Given the description of an element on the screen output the (x, y) to click on. 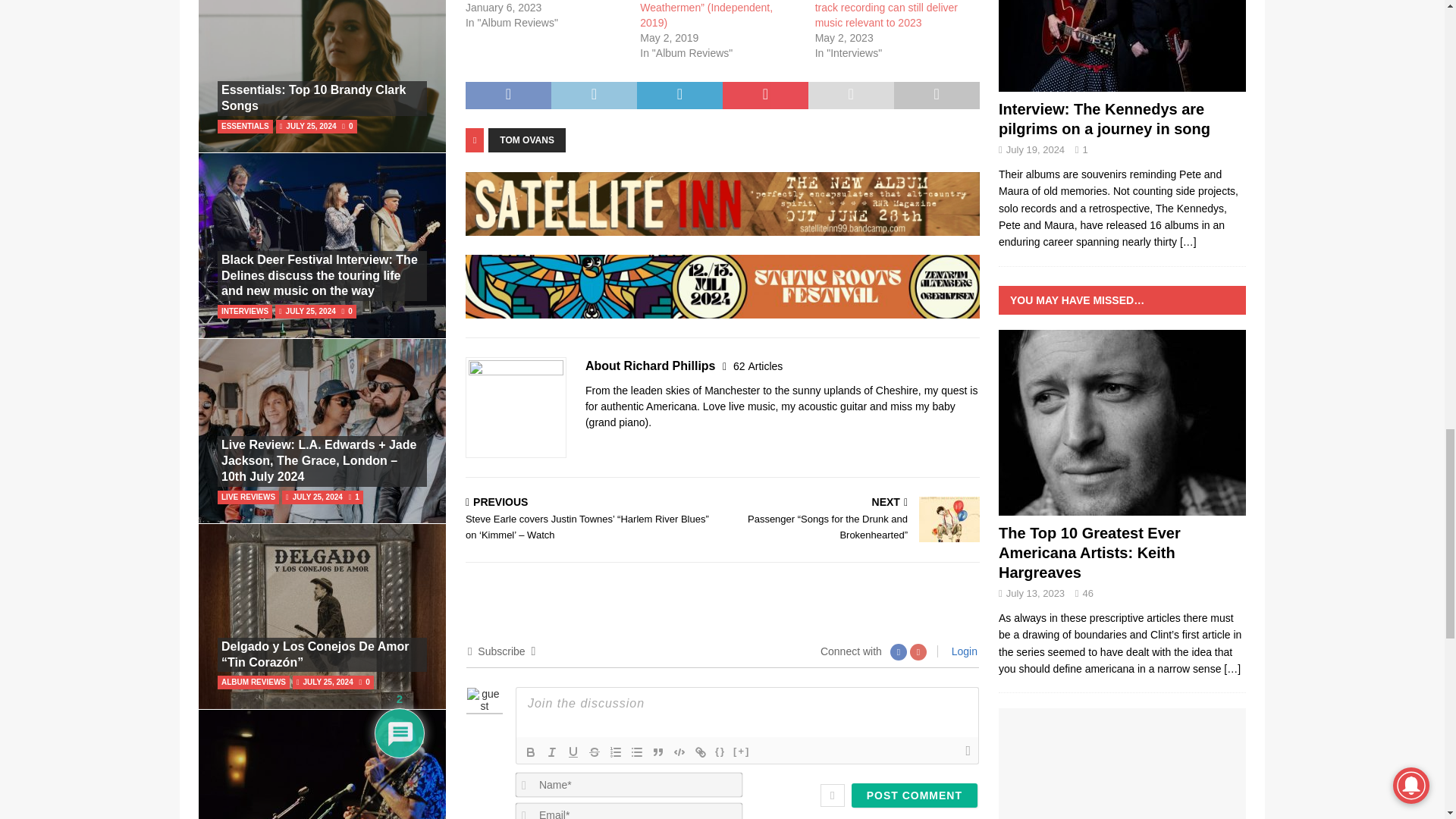
Post Comment (913, 794)
